Given the description of an element on the screen output the (x, y) to click on. 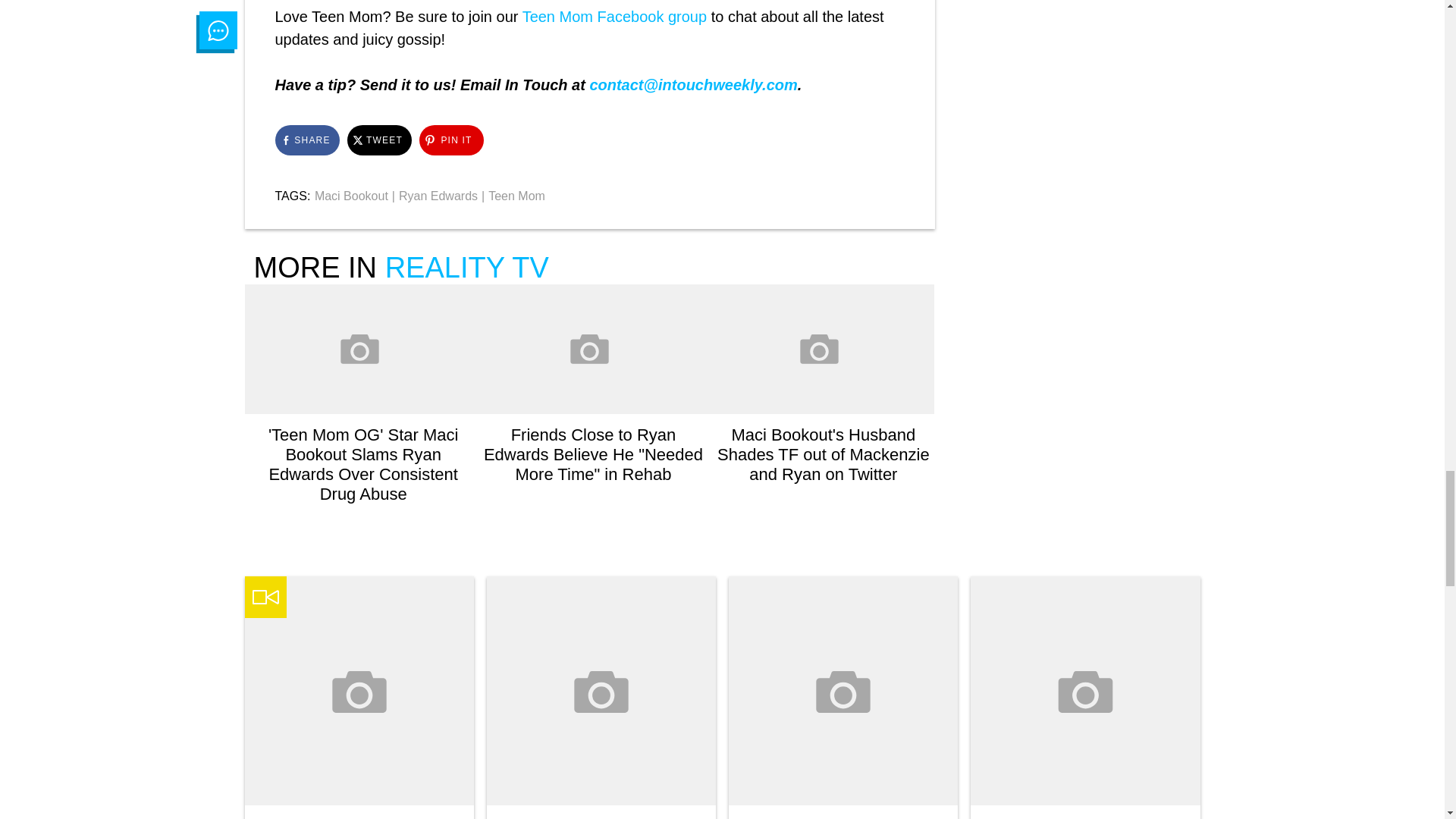
Click to share on Facebook (307, 140)
Click to share on Pinterest (451, 140)
Click to share on Twitter (379, 140)
